Given the description of an element on the screen output the (x, y) to click on. 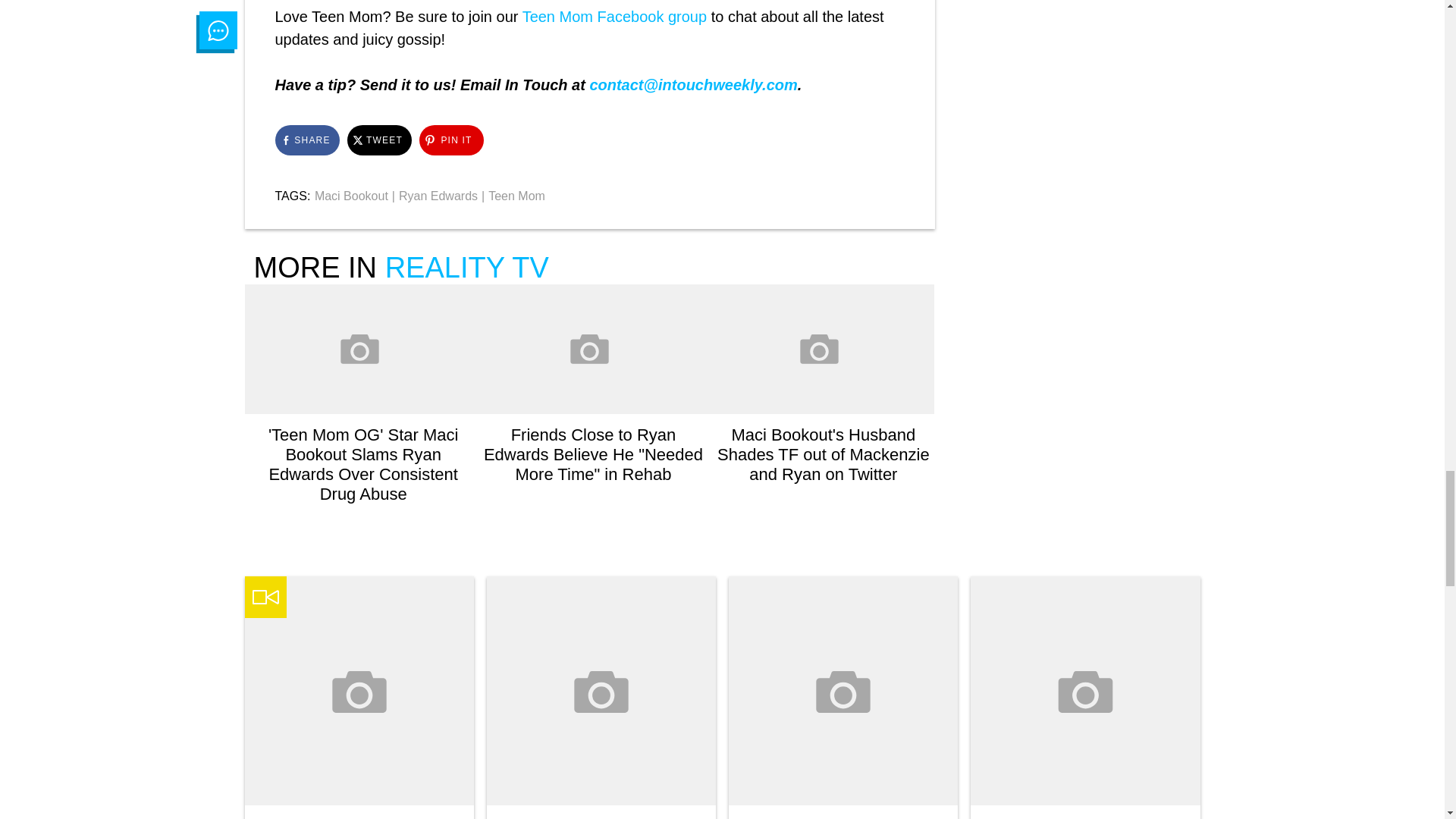
Click to share on Facebook (307, 140)
Click to share on Pinterest (451, 140)
Click to share on Twitter (379, 140)
